Given the description of an element on the screen output the (x, y) to click on. 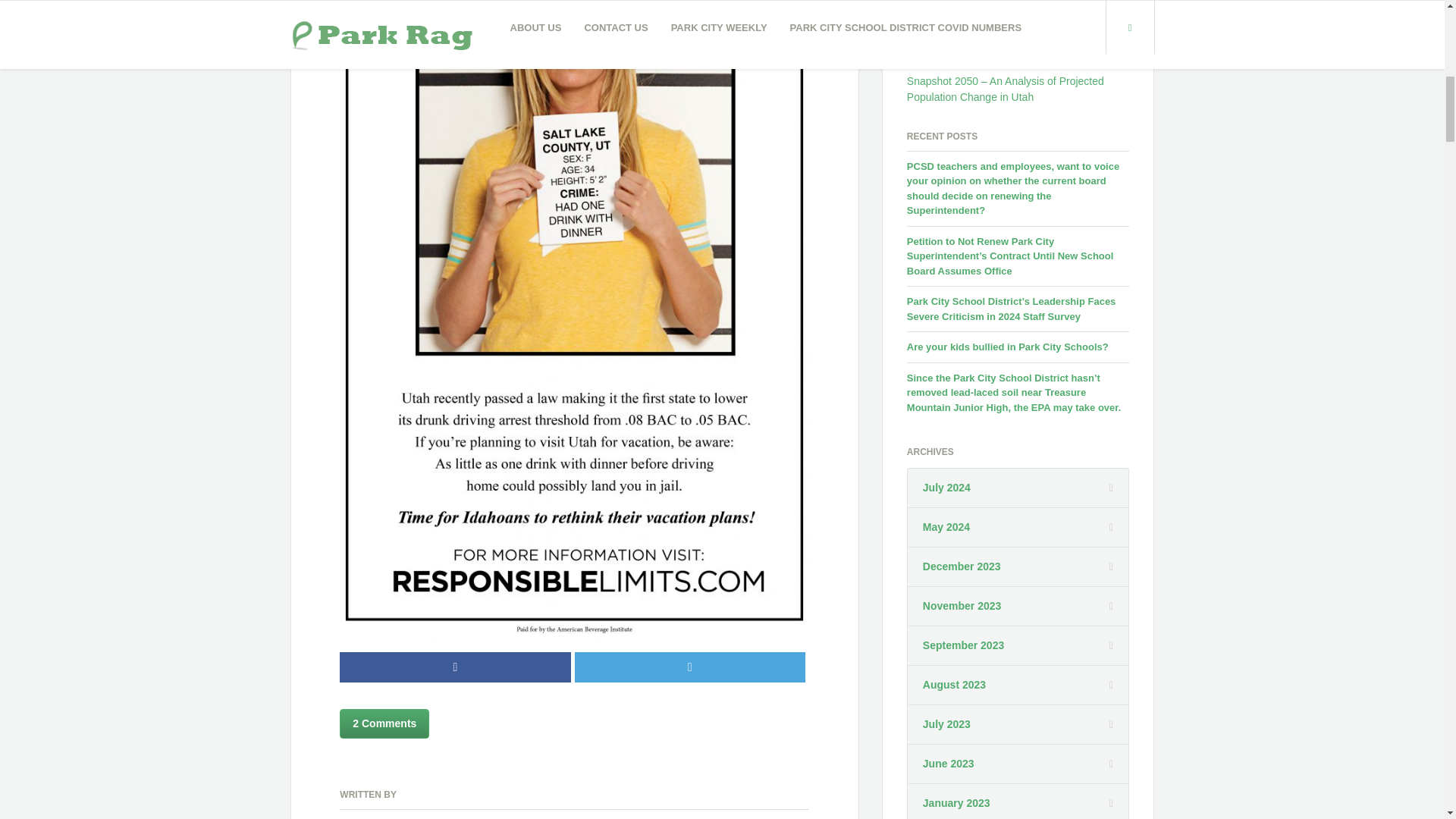
Summit County Short Term Transportation Needs Identification (1006, 54)
December 2023 (962, 566)
May 2024 (946, 527)
Are your kids bullied in Park City Schools? (1007, 346)
Park City Climate Change Assessment (998, 26)
July 2024 (947, 487)
2 Comments (384, 723)
